Given the description of an element on the screen output the (x, y) to click on. 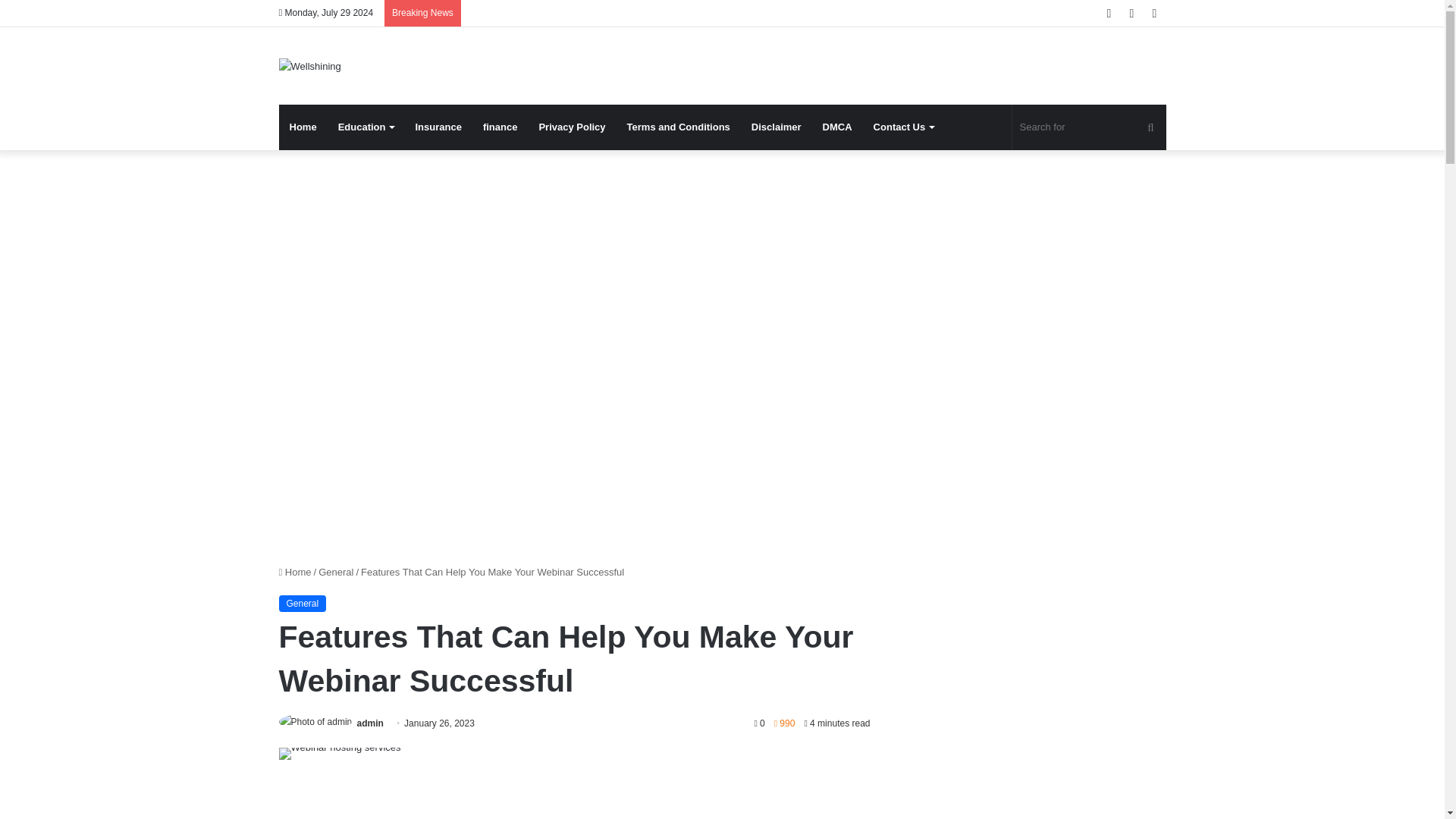
General (302, 603)
Home (303, 126)
Wellshining (309, 65)
Education (365, 126)
Search for (1088, 126)
General (335, 572)
admin (370, 723)
Disclaimer (776, 126)
Insurance (437, 126)
Terms and Conditions (678, 126)
finance (499, 126)
Contact Us (903, 126)
admin (370, 723)
DMCA (837, 126)
Privacy Policy (571, 126)
